Given the description of an element on the screen output the (x, y) to click on. 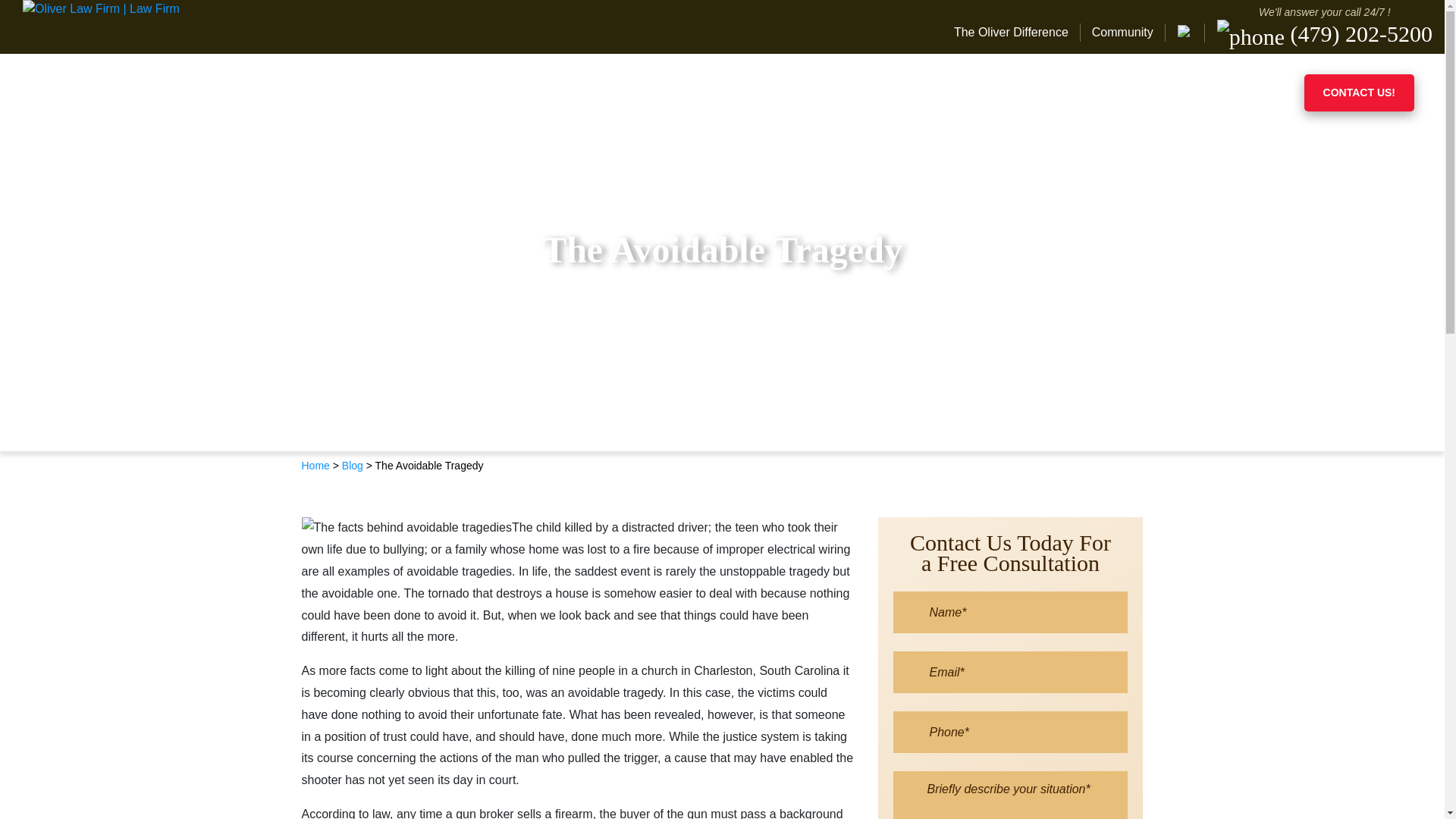
Client Stories (1188, 93)
Community (1123, 32)
The Oliver Difference (1016, 32)
CONTACT US! (1358, 92)
